Given the description of an element on the screen output the (x, y) to click on. 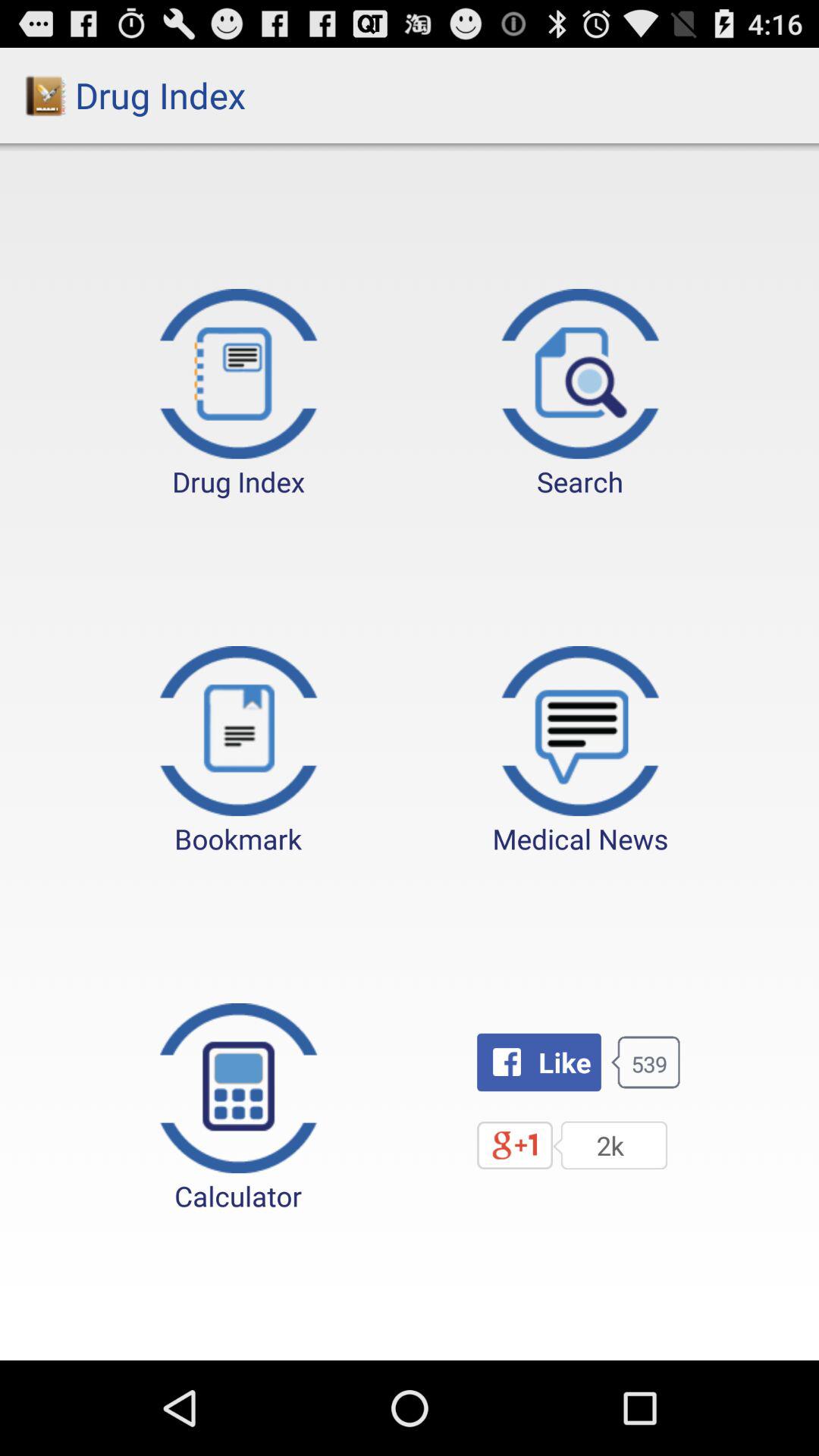
click the calculator at the bottom left corner (238, 1108)
